Given the description of an element on the screen output the (x, y) to click on. 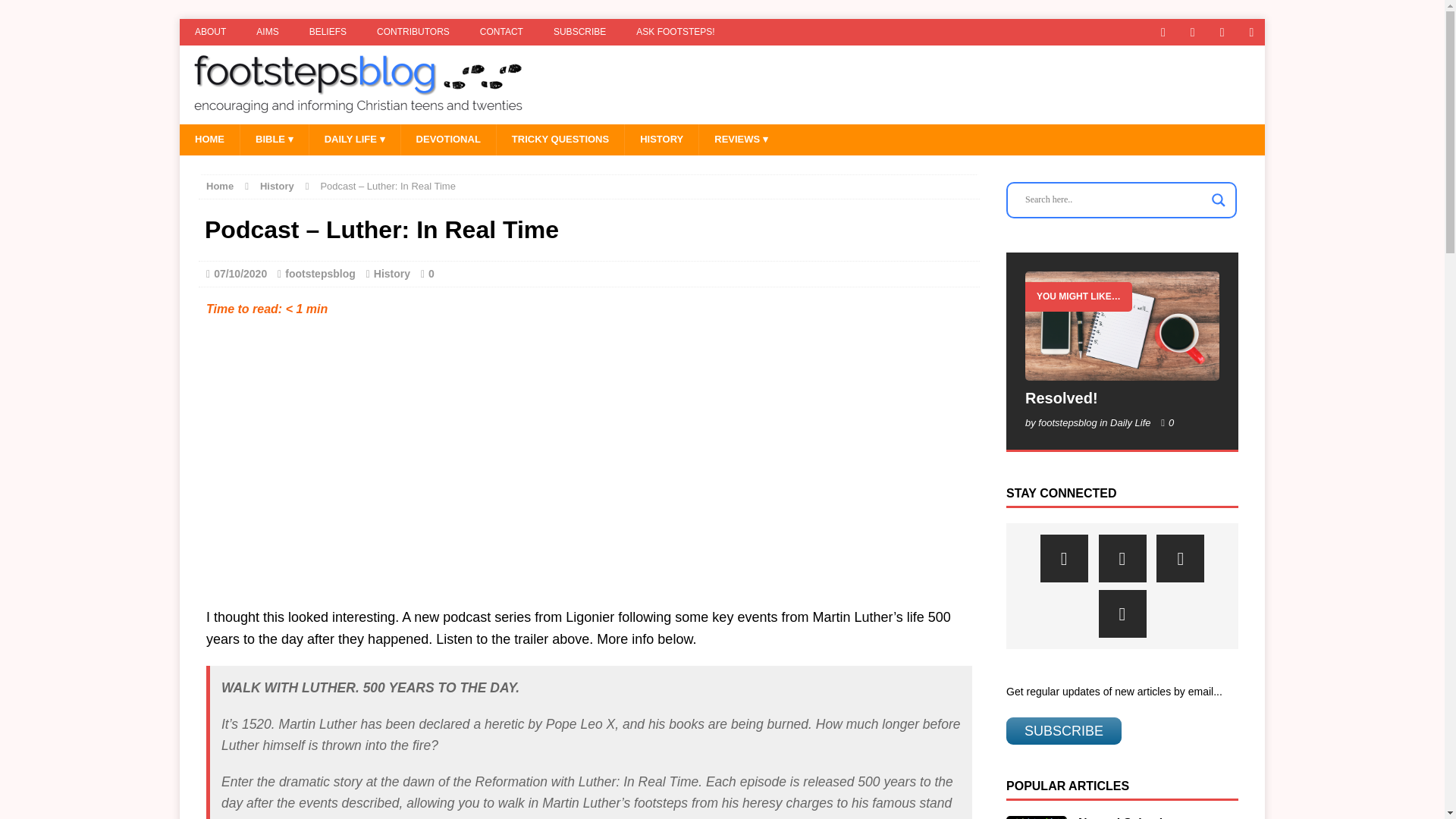
AIMS (267, 31)
footstepsblog (320, 273)
BELIEFS (327, 31)
Home (219, 185)
CONTACT (501, 31)
TRICKY QUESTIONS (560, 139)
ABOUT (210, 31)
REVIEWS (740, 139)
ASK FOOTSTEPS! (675, 31)
History (277, 185)
HOME (209, 139)
History (392, 273)
HISTORY (661, 139)
DEVOTIONAL (448, 139)
BIBLE (274, 139)
